Given the description of an element on the screen output the (x, y) to click on. 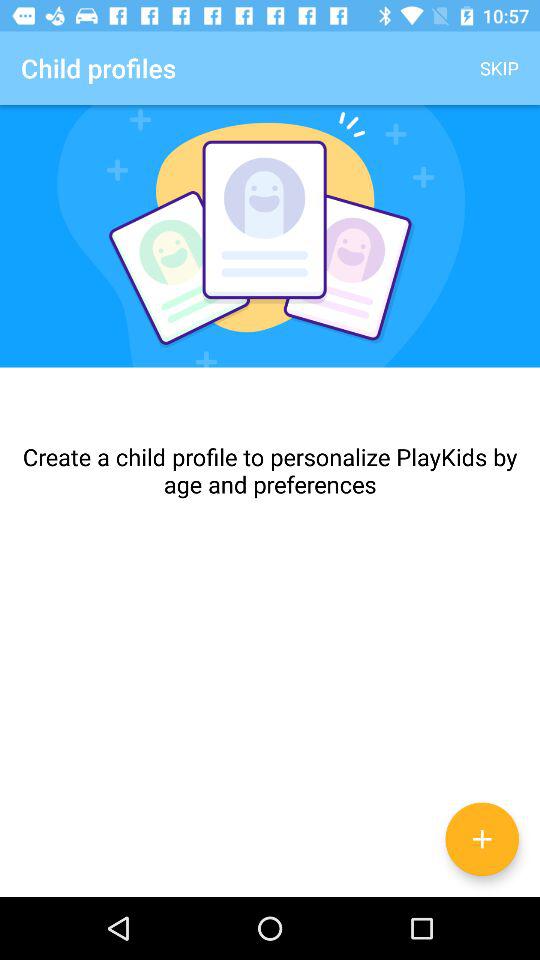
choose the item below create a child item (482, 839)
